Given the description of an element on the screen output the (x, y) to click on. 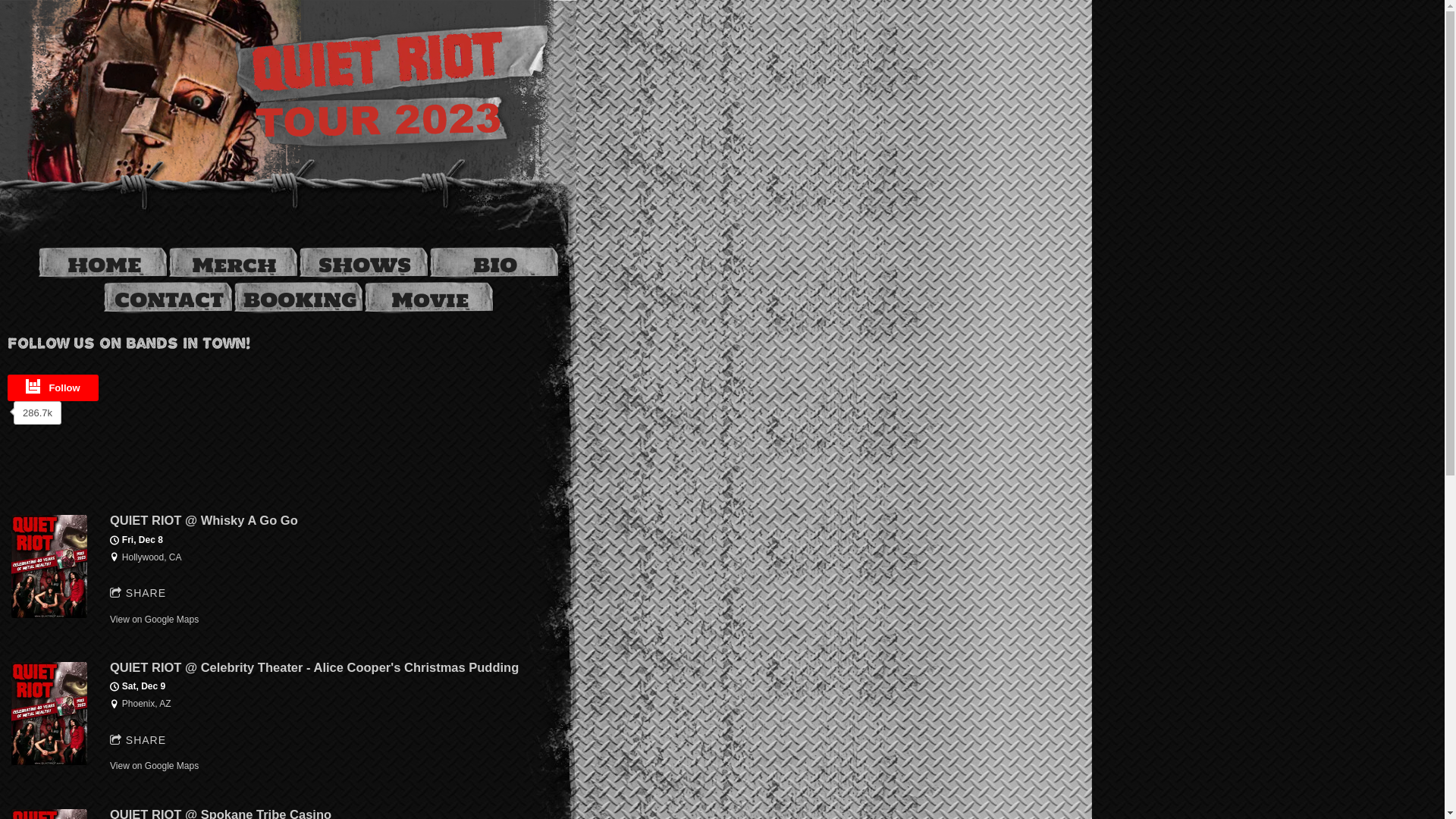
Merch Element type: text (233, 264)
SHOWS Element type: text (364, 264)
HOME Element type: text (103, 264)
Phoenix, AZ Element type: text (146, 703)
BIO Element type: text (495, 264)
Movie Element type: text (429, 299)
SHARE Element type: text (137, 740)
CONTACT Element type: text (168, 299)
BOOKING Element type: text (298, 299)
SHARE Element type: text (137, 593)
Hollywood, CA Element type: text (152, 557)
QUIET RIOT @ Whisky A Go Go Element type: hover (49, 614)
View on Google Maps Element type: text (153, 619)
View on Google Maps Element type: text (153, 765)
QUIET RIOT @ Whisky A Go Go Element type: text (203, 520)
